Given the description of an element on the screen output the (x, y) to click on. 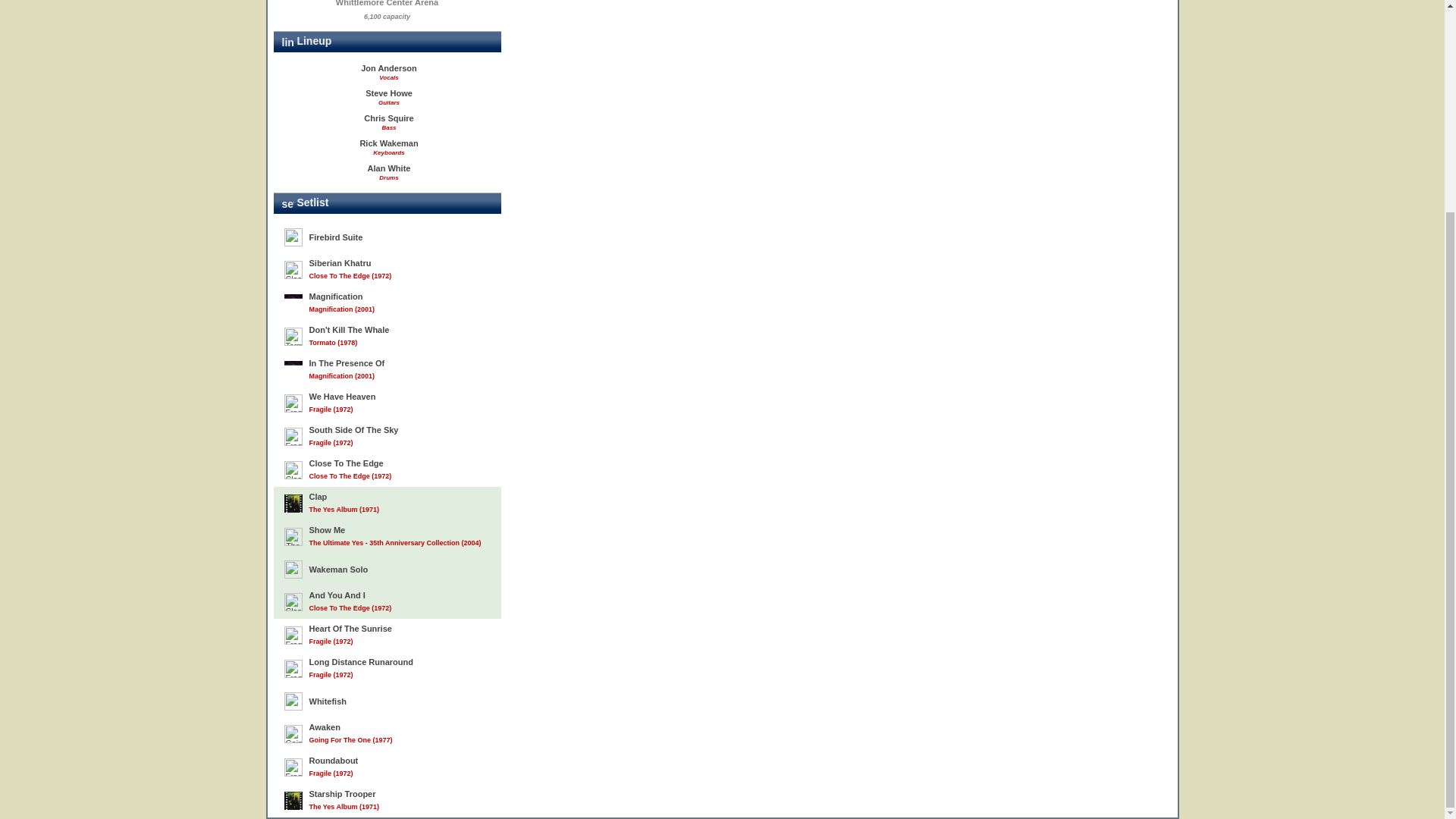
Firebird Suite (386, 237)
Whitefish (386, 701)
Wakeman Solo (386, 569)
lineup (288, 42)
setlist (288, 203)
